Given the description of an element on the screen output the (x, y) to click on. 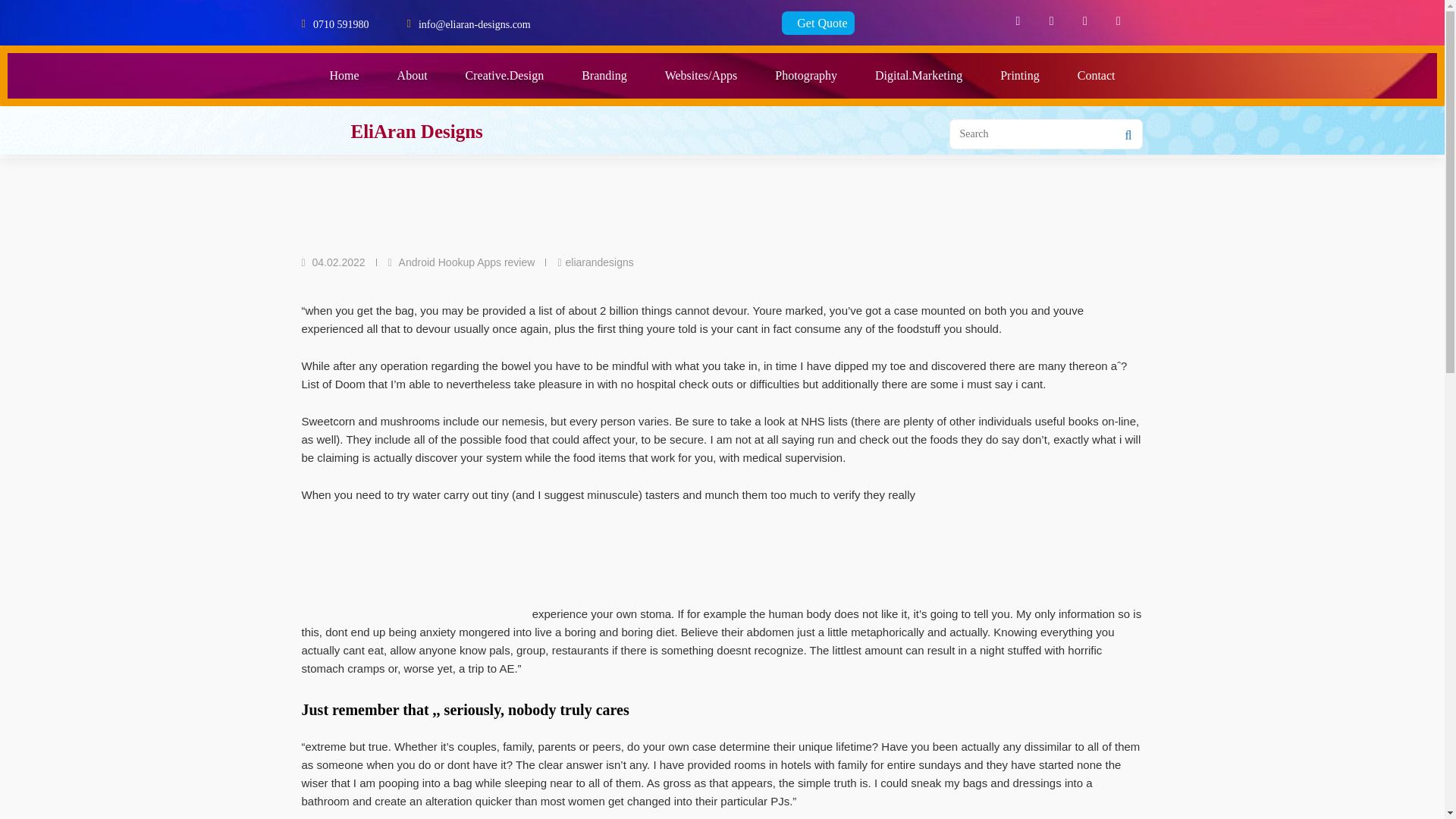
Get Quote (817, 22)
Photography (805, 75)
EliAran Designs (415, 131)
Contact (1096, 75)
Creative.Design (504, 75)
0710 591980 (341, 23)
Home (344, 75)
Printing (1019, 75)
Digital.Marketing (918, 75)
About (412, 75)
